Given the description of an element on the screen output the (x, y) to click on. 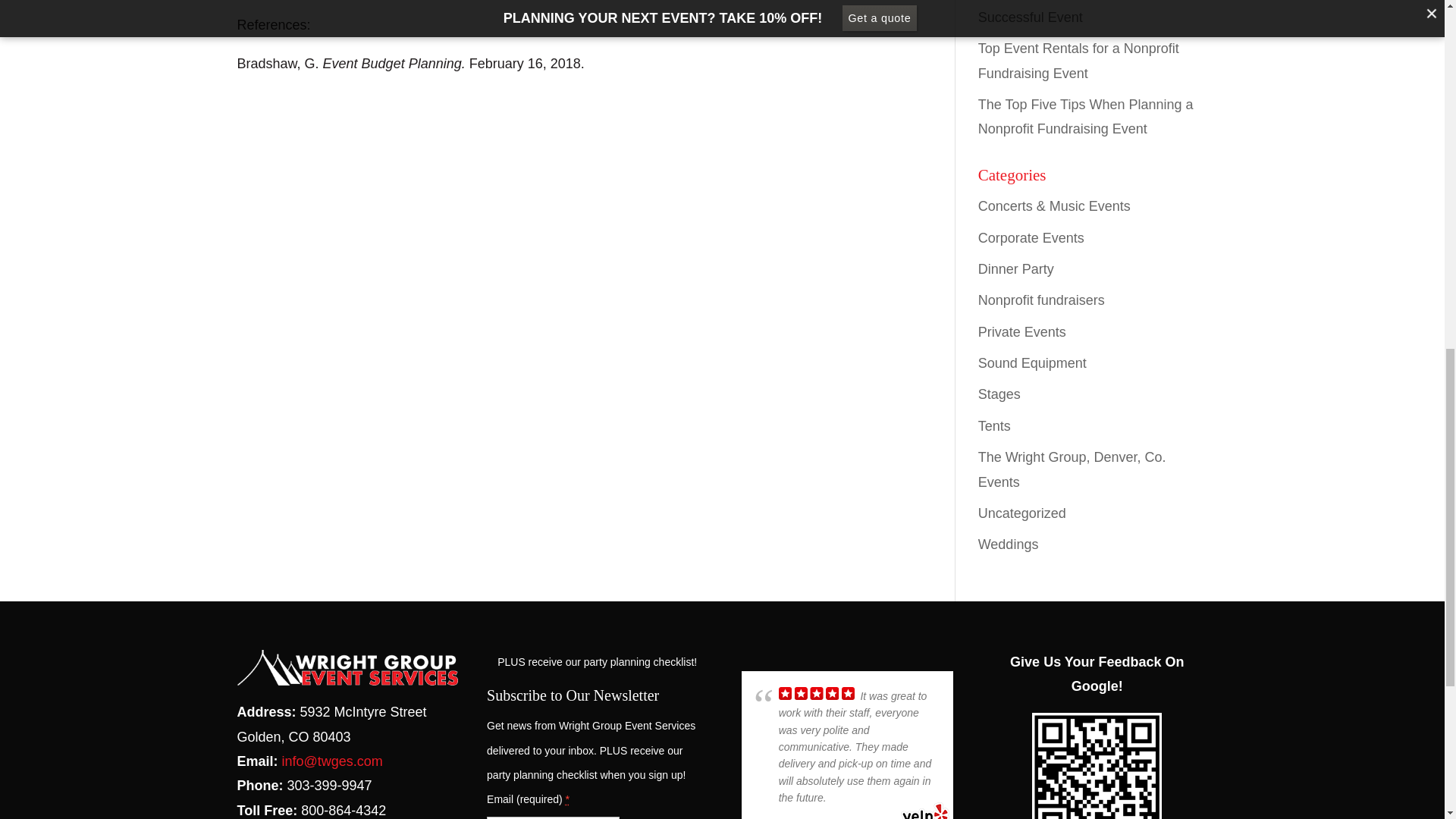
Wright-Group-Logo-Web-Footer-Logo (346, 667)
